Given the description of an element on the screen output the (x, y) to click on. 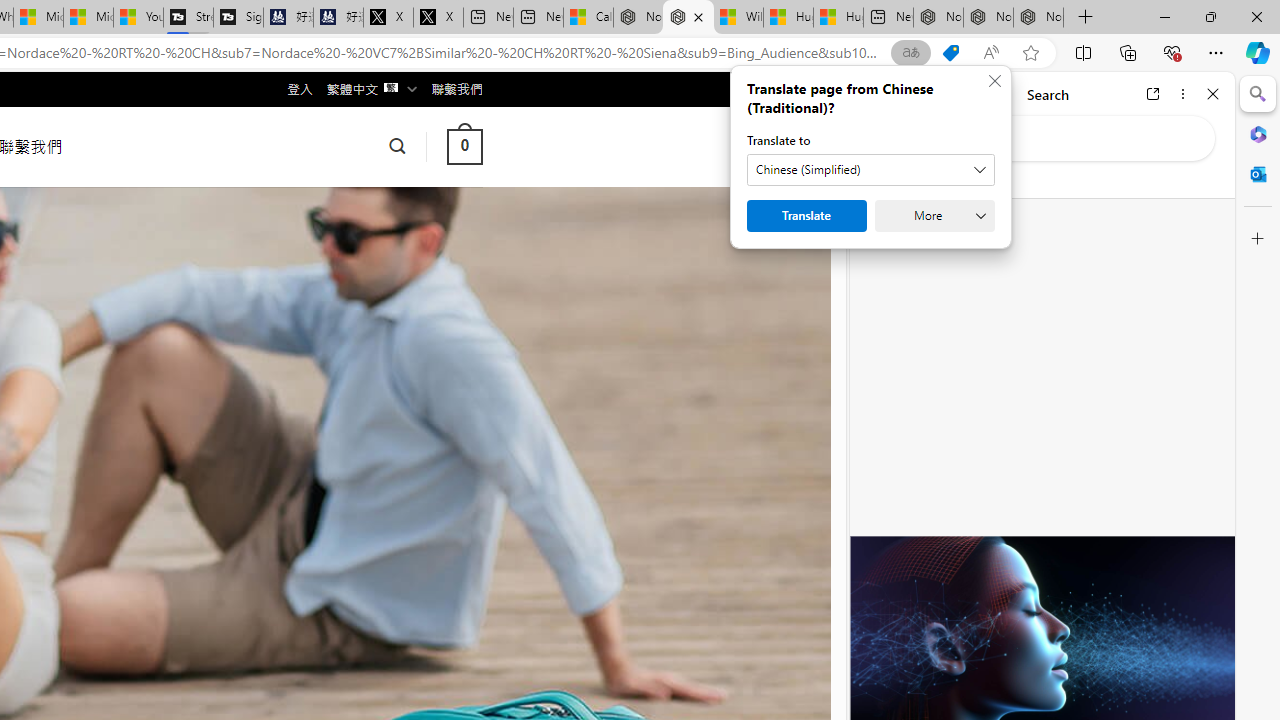
Split screen (1083, 52)
 0  (464, 146)
Collections (1128, 52)
Copilot (Ctrl+Shift+.) (1258, 52)
Microsoft Start Sports (38, 17)
Outlook (1258, 174)
Show translate options (910, 53)
